Given the description of an element on the screen output the (x, y) to click on. 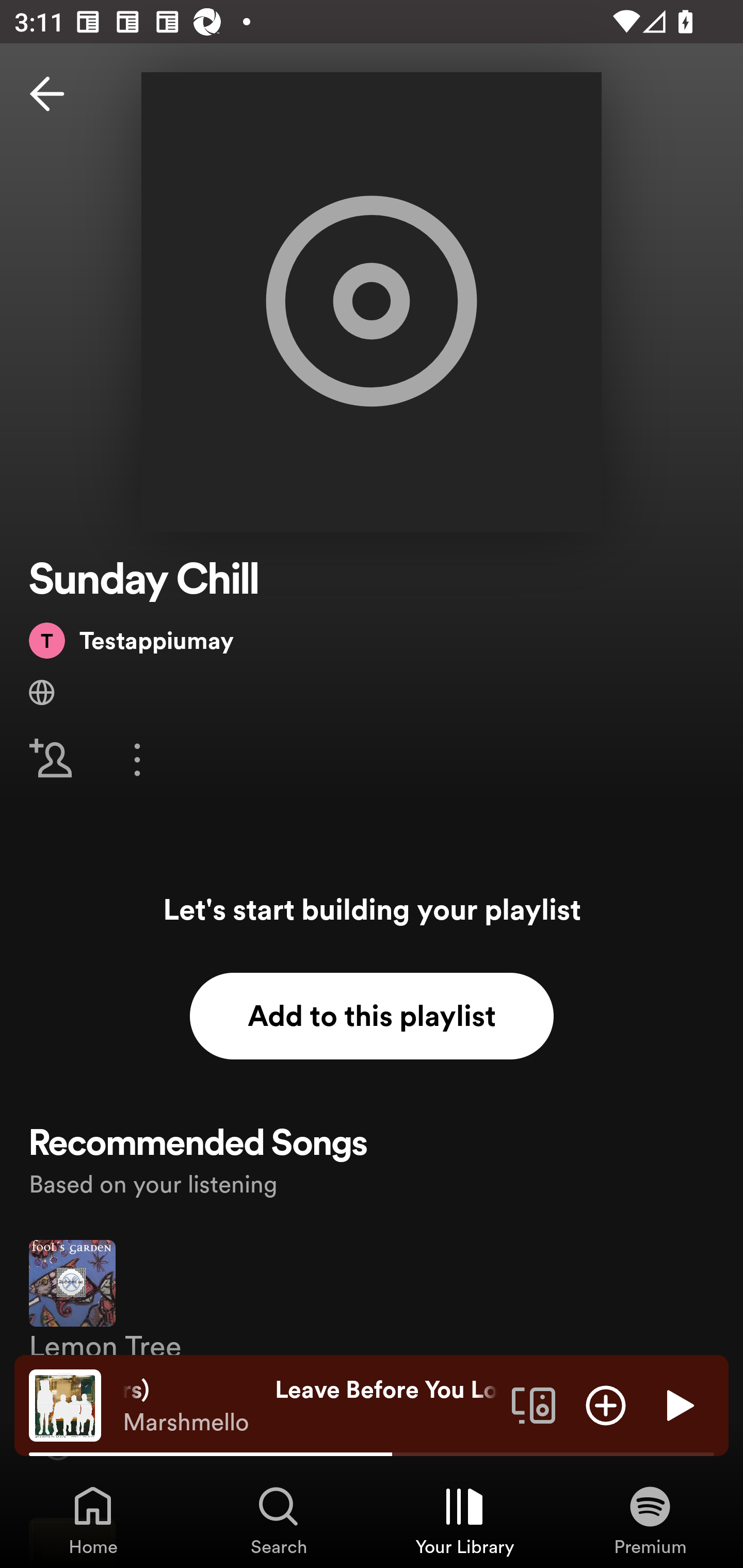
Back (46, 93)
Testappiumay (131, 640)
Invite Friends for playlist (50, 759)
More options for playlist Sunday Chill (136, 759)
Add to this playlist (371, 1015)
The cover art of the currently playing track (64, 1404)
Connect to a device. Opens the devices menu (533, 1404)
Add item (605, 1404)
Play (677, 1404)
Home, Tab 1 of 4 Home Home (92, 1519)
Search, Tab 2 of 4 Search Search (278, 1519)
Your Library, Tab 3 of 4 Your Library Your Library (464, 1519)
Premium, Tab 4 of 4 Premium Premium (650, 1519)
